Given the description of an element on the screen output the (x, y) to click on. 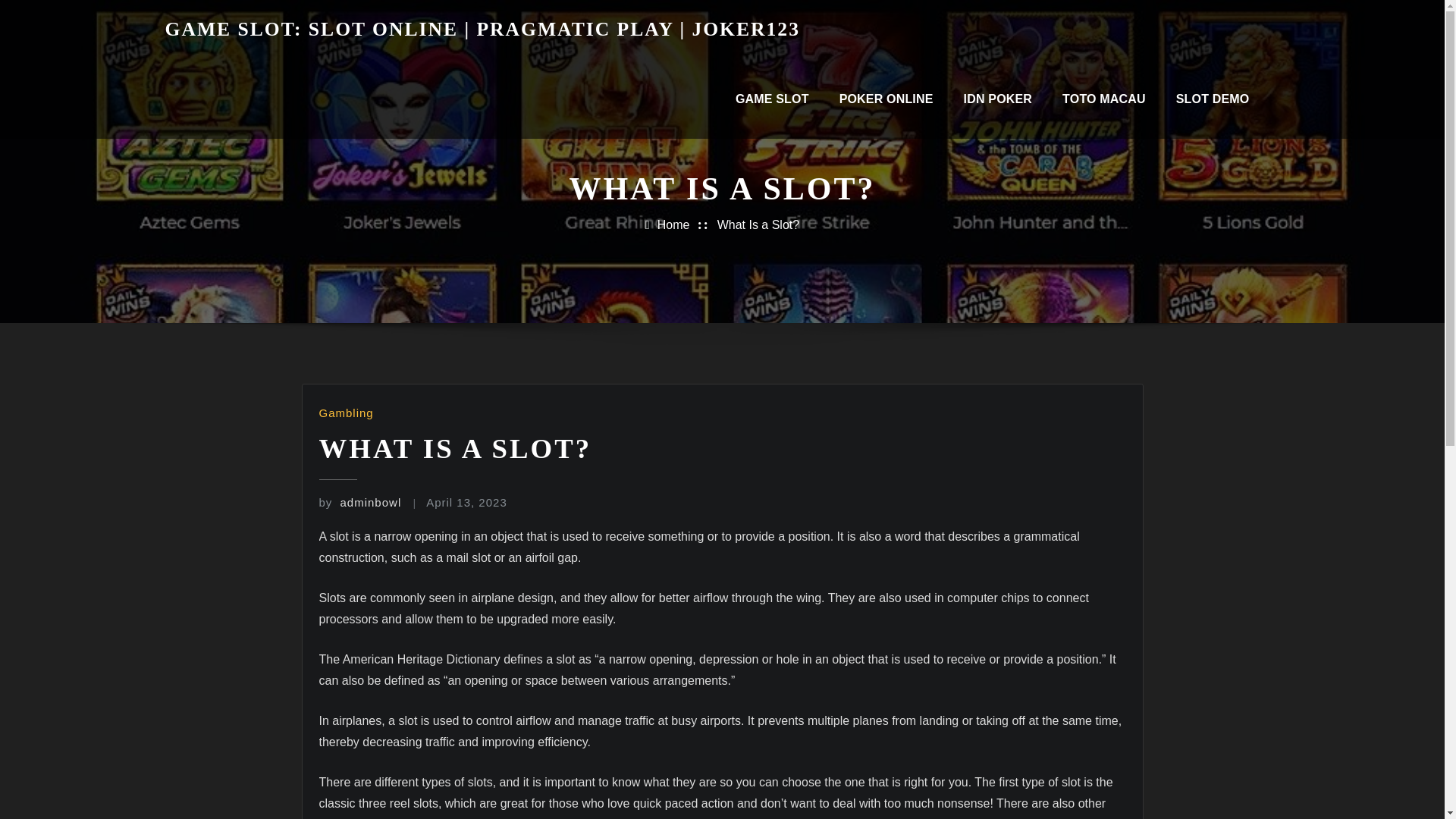
IDN POKER (998, 99)
April 13, 2023 (466, 502)
POKER ONLINE (886, 99)
Gambling (345, 412)
TOTO MACAU (1103, 99)
Home (674, 224)
SLOT DEMO (1212, 99)
by adminbowl (359, 502)
What Is a Slot? (758, 224)
GAME SLOT (772, 99)
